Given the description of an element on the screen output the (x, y) to click on. 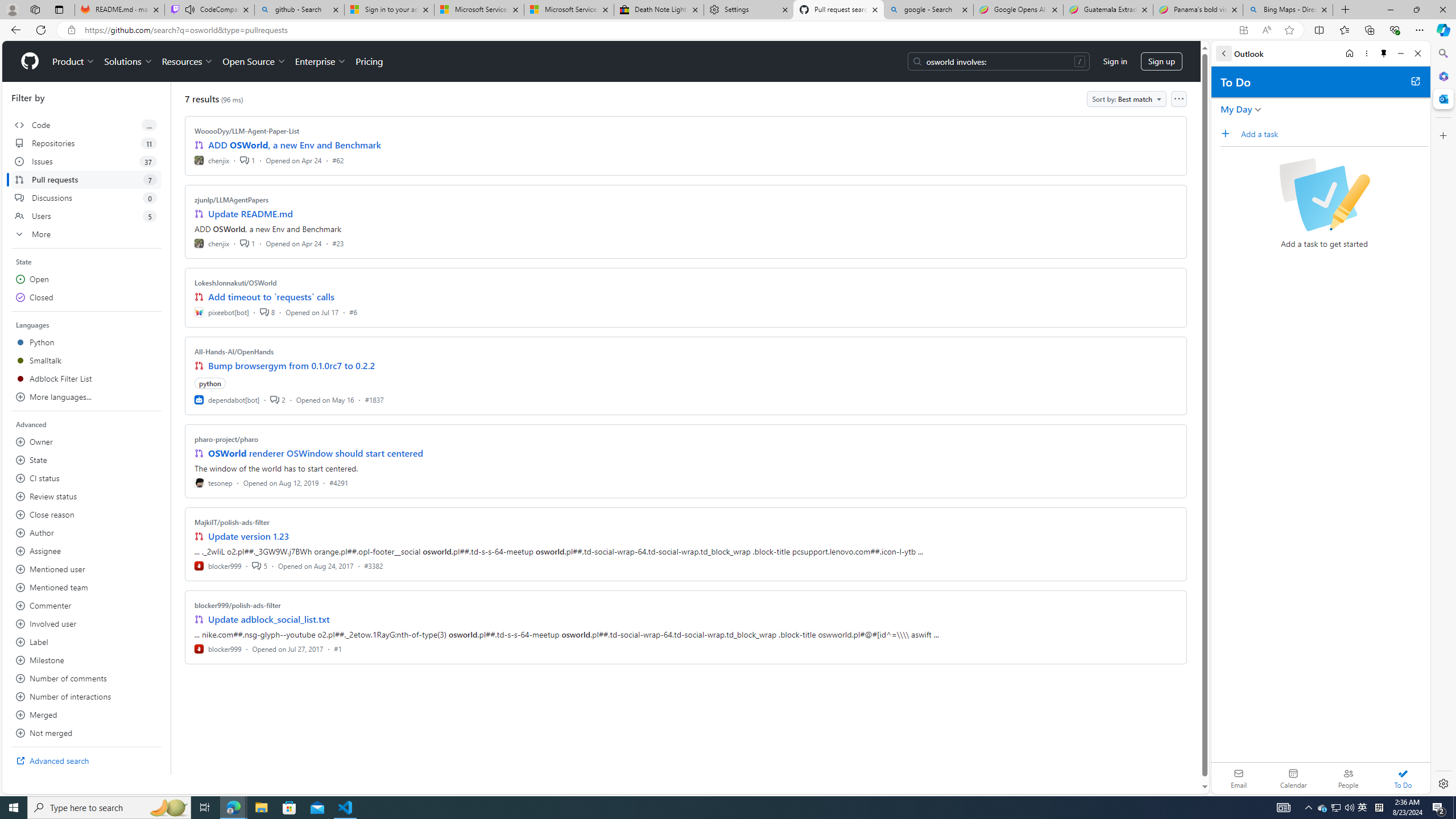
Pricing (368, 60)
To Do (1402, 777)
#1837 (374, 398)
Homepage (29, 61)
#4291 (338, 482)
ADD OSWorld, a new Env and Benchmark (294, 144)
#3382 (373, 565)
